Given the description of an element on the screen output the (x, y) to click on. 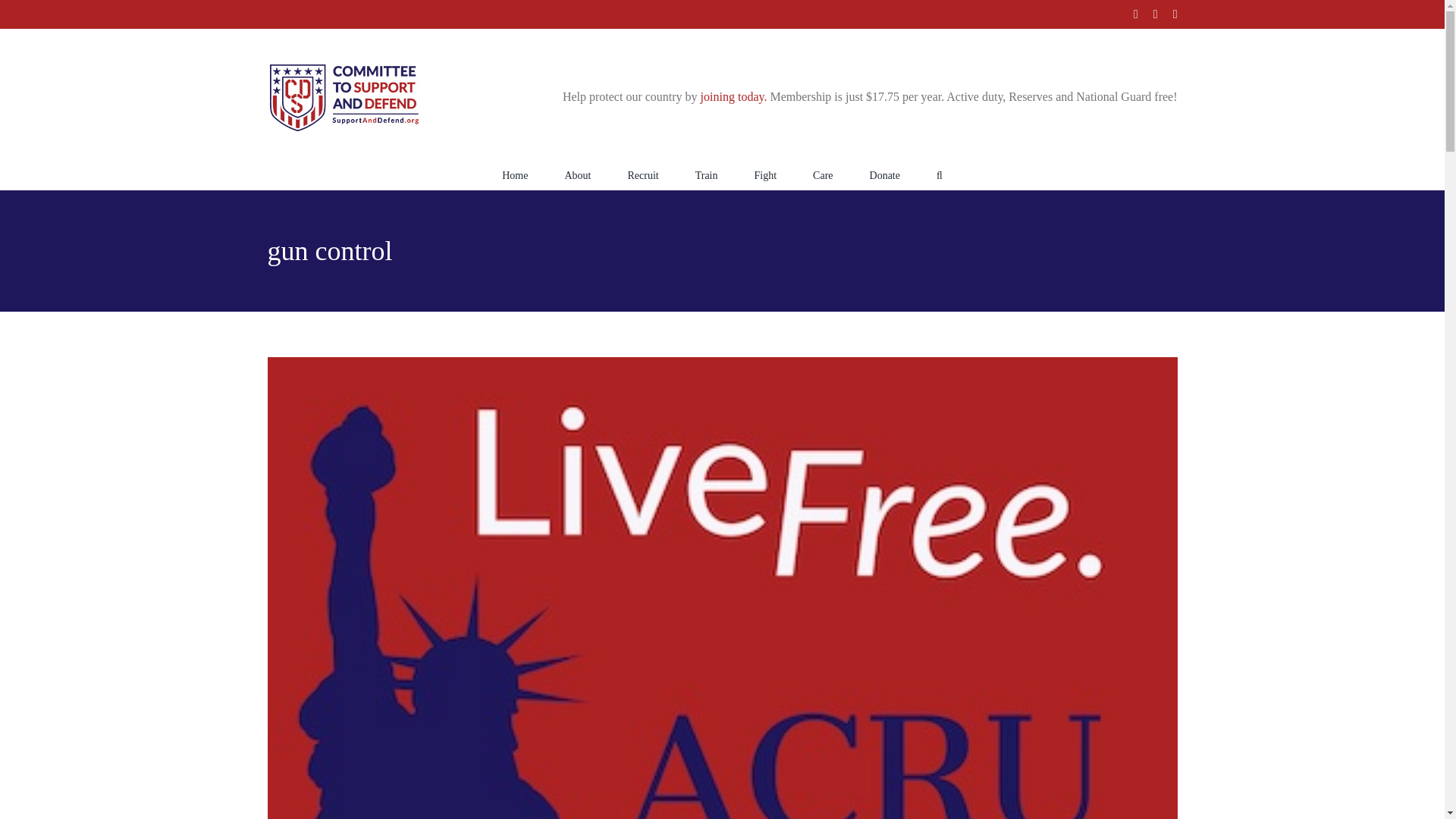
Donate (884, 173)
joining today. (733, 96)
Recruit (642, 173)
